Given the description of an element on the screen output the (x, y) to click on. 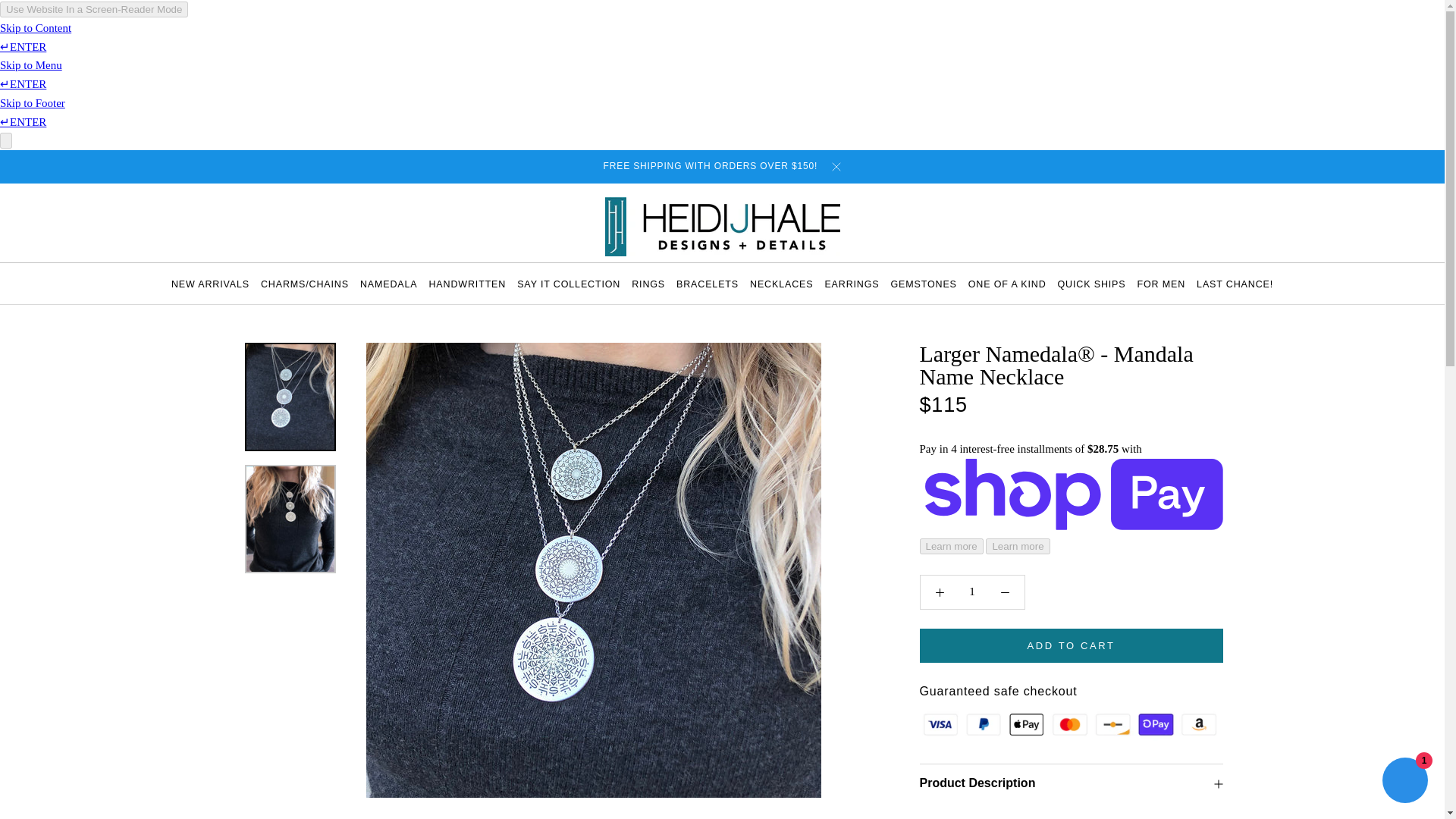
Shopify online store chat (388, 284)
1 (568, 284)
